Given the description of an element on the screen output the (x, y) to click on. 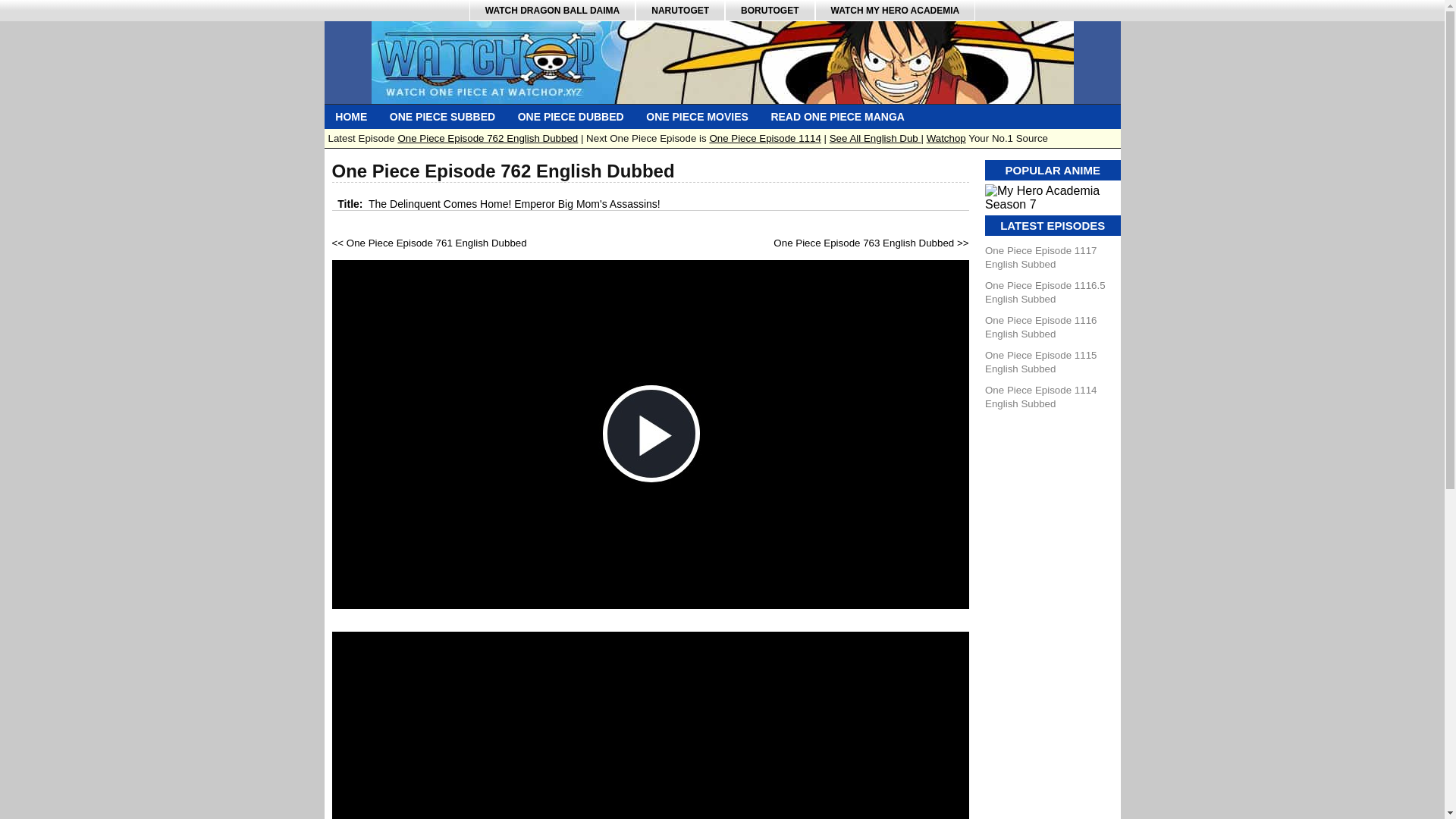
Movies (696, 116)
Dragon Ball Super (552, 10)
Manga (837, 116)
One Piece Episode 1116 English Subbed (1040, 326)
WATCH MY HERO ACADEMIA (895, 10)
WATCH DRAGON BALL DAIMA (552, 10)
One Piece Episode 1116.5 English Subbed (1045, 292)
One Piece Episode 1114 (765, 138)
ONE PIECE SUBBED (442, 116)
One Piece Episode 1114 English Subbed (1040, 396)
